Given the description of an element on the screen output the (x, y) to click on. 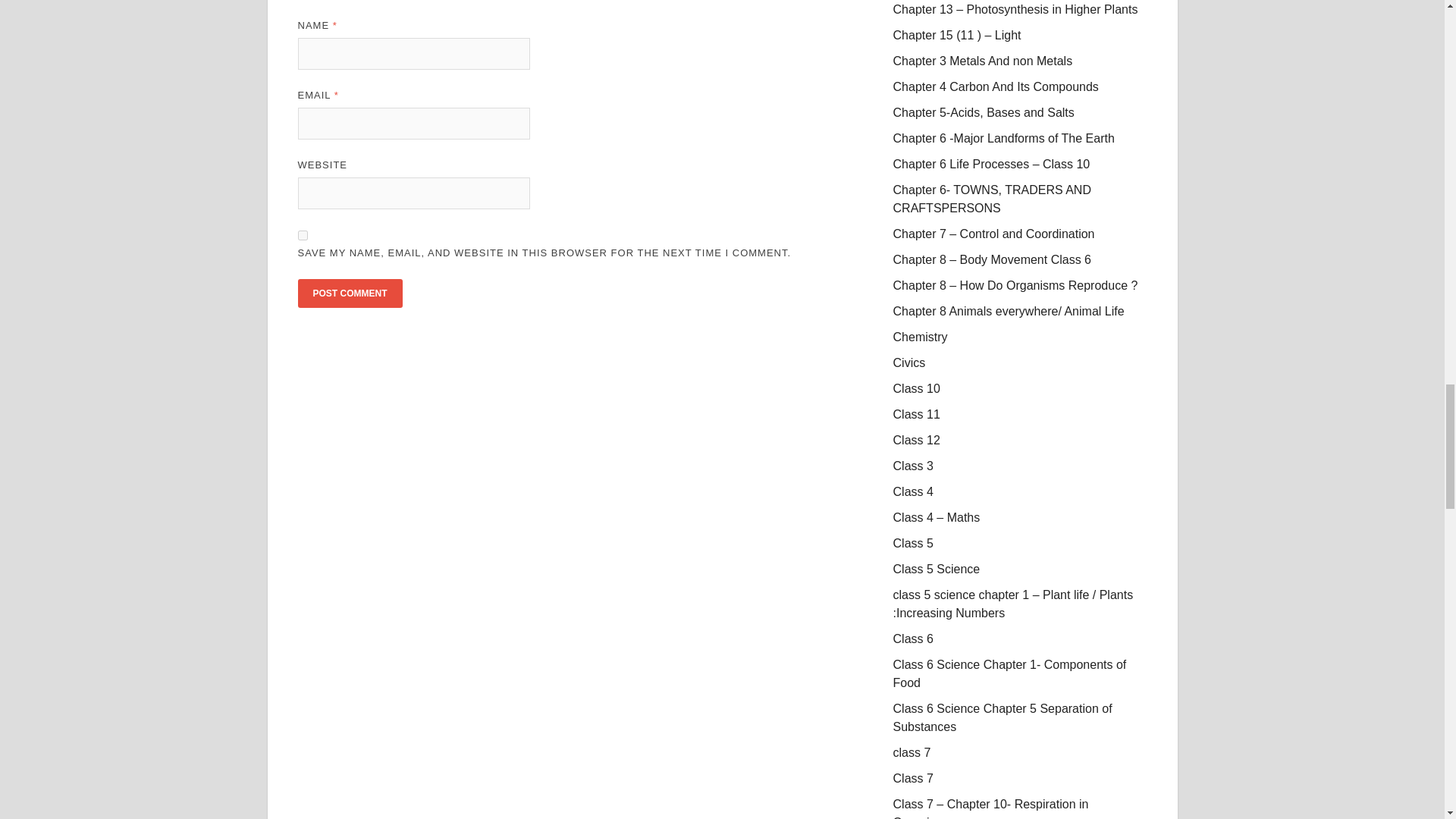
Post Comment (349, 293)
Class 3 Notes (913, 465)
yes (302, 235)
